Given the description of an element on the screen output the (x, y) to click on. 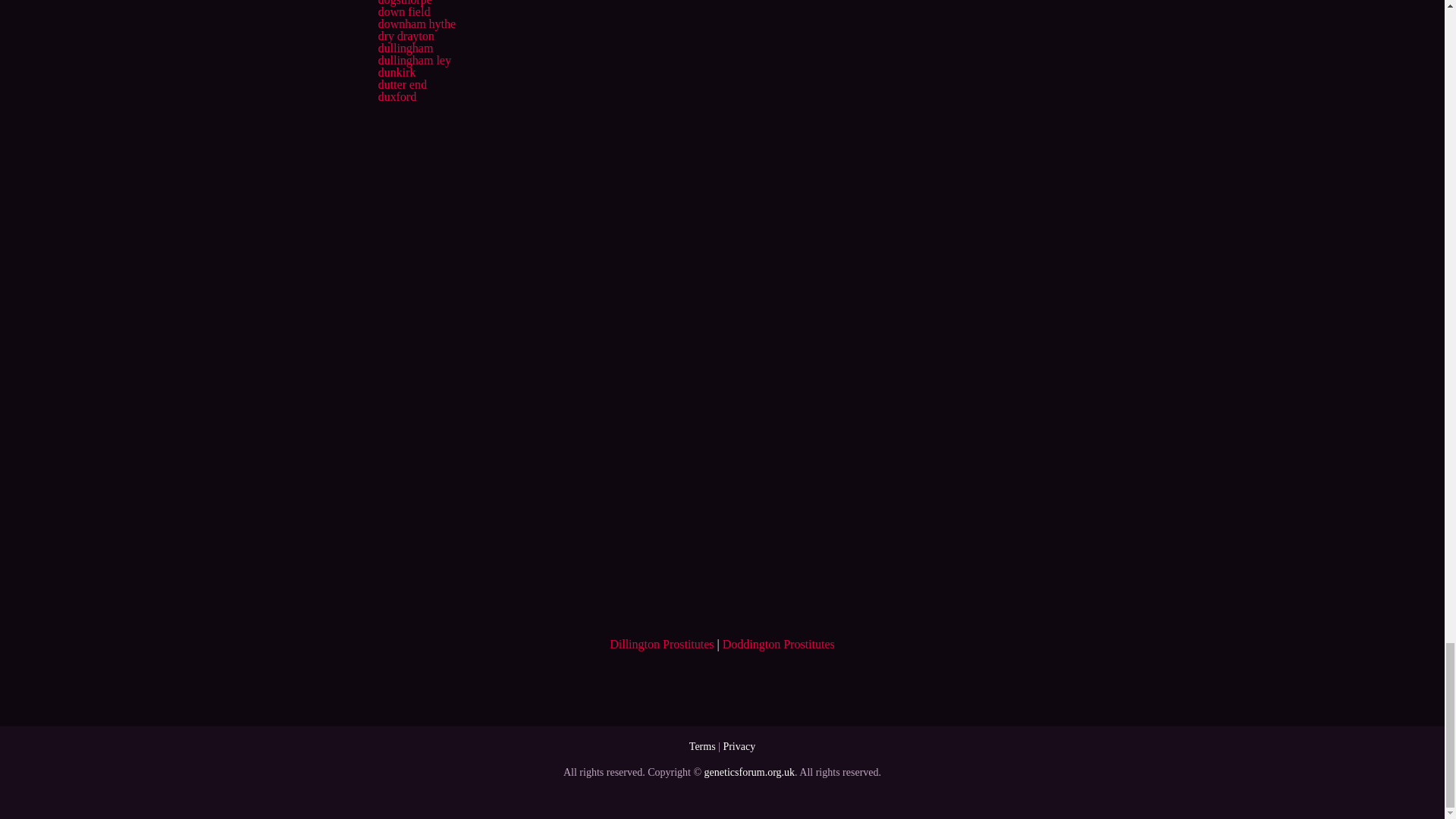
dunkirk (395, 72)
Privacy (738, 746)
Privacy (738, 746)
Dillington Prostitutes (661, 644)
dry drayton (405, 35)
Doddington Prostitutes (778, 644)
duxford (396, 96)
dutter end (401, 83)
Terms (702, 746)
geneticsforum.org.uk (749, 772)
dullingham ley (413, 60)
dogsthorpe (403, 2)
downham hythe (416, 23)
Terms (702, 746)
down field (403, 11)
